Given the description of an element on the screen output the (x, y) to click on. 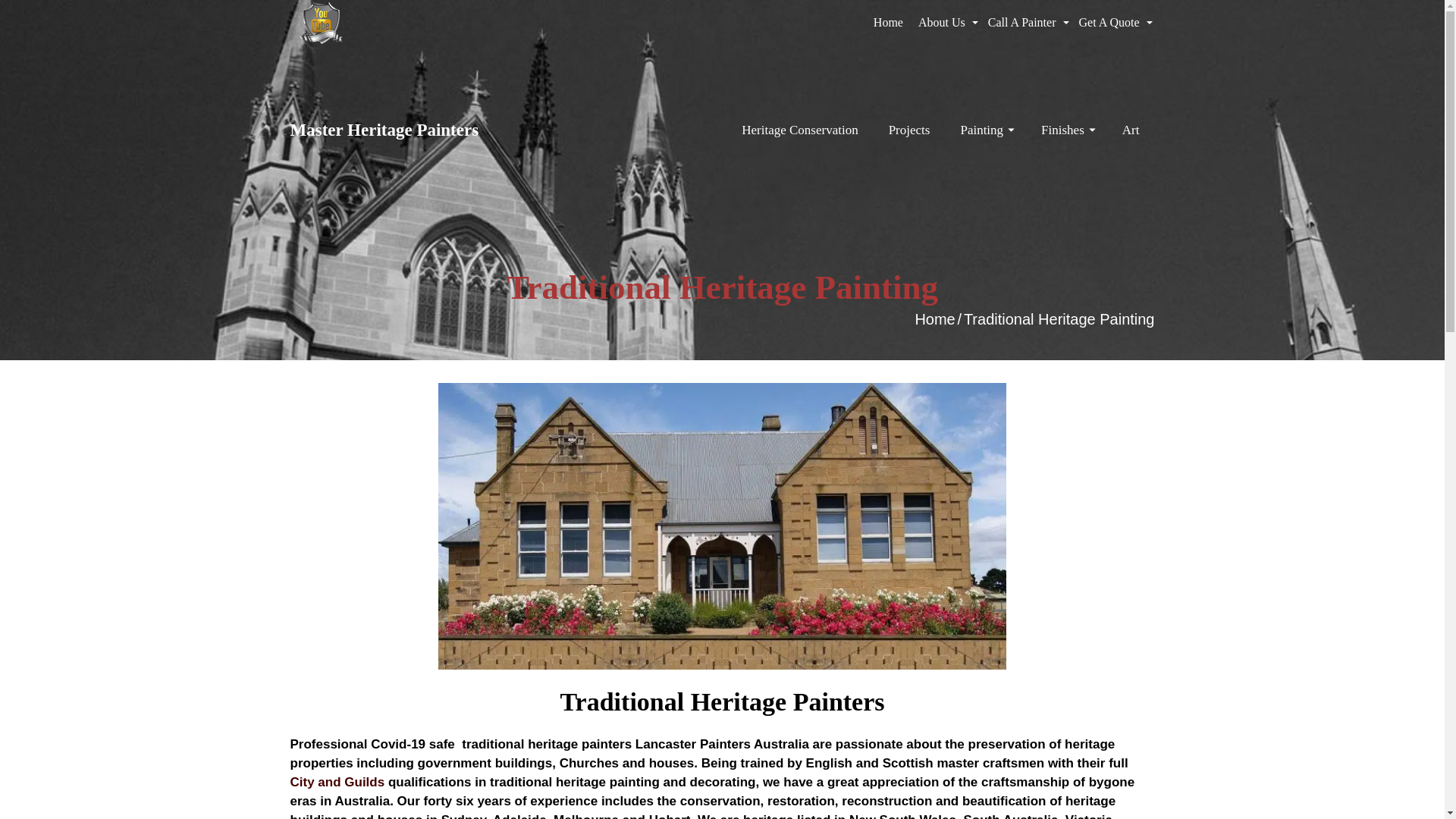
Home Element type: text (934, 318)
Get A Quote Element type: text (1112, 22)
Heritage Conservation Element type: text (799, 130)
About Us Element type: text (945, 22)
Art Element type: text (1130, 130)
City and Guilds Element type: text (336, 782)
Projects Element type: text (909, 130)
Painting Element type: text (985, 130)
Home Element type: text (888, 22)
Call A Painter Element type: text (1025, 22)
Finishes Element type: text (1066, 130)
Master Heritage Painters Element type: text (425, 130)
